Given the description of an element on the screen output the (x, y) to click on. 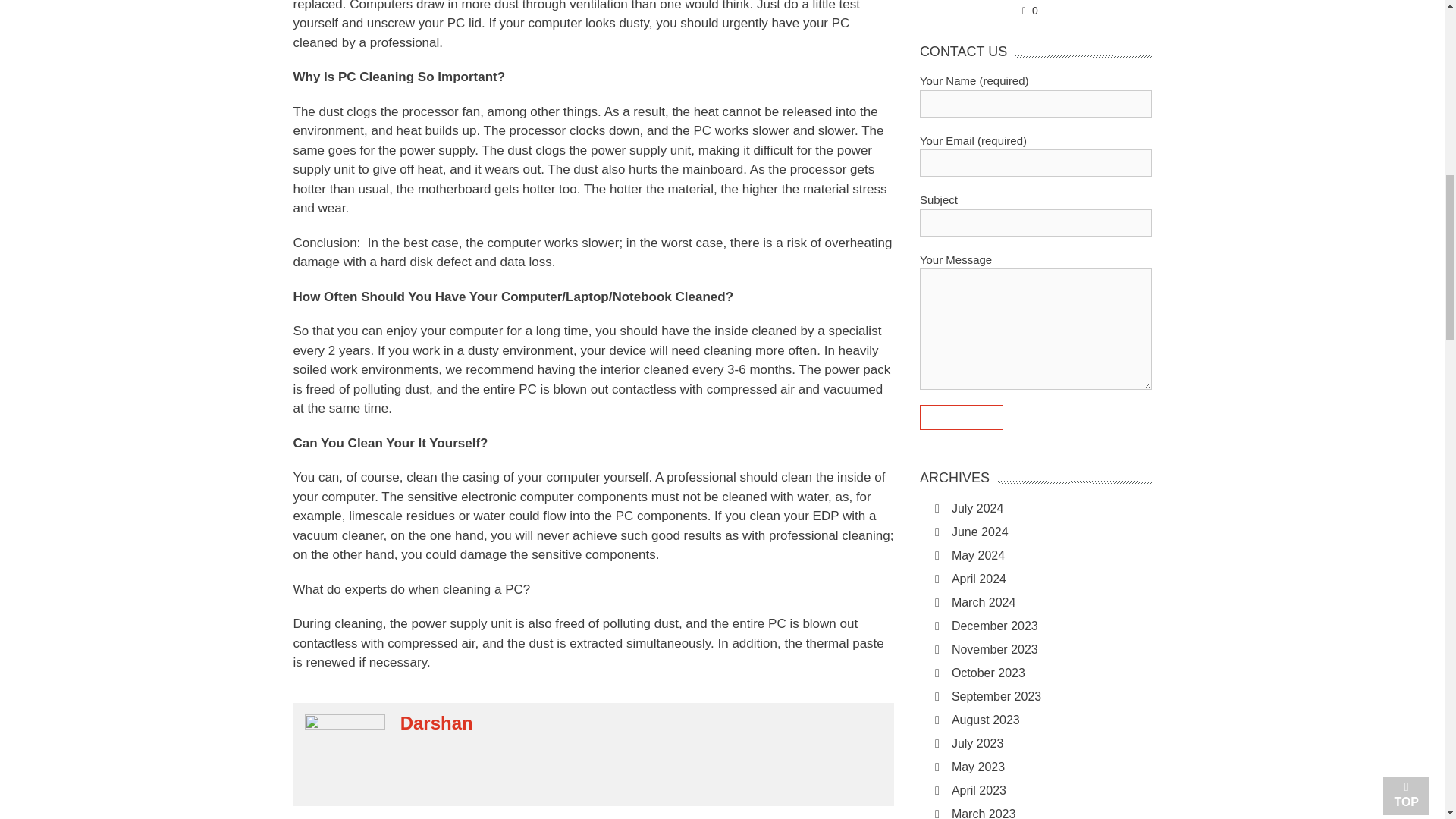
Darshan (436, 723)
Send (961, 416)
